Given the description of an element on the screen output the (x, y) to click on. 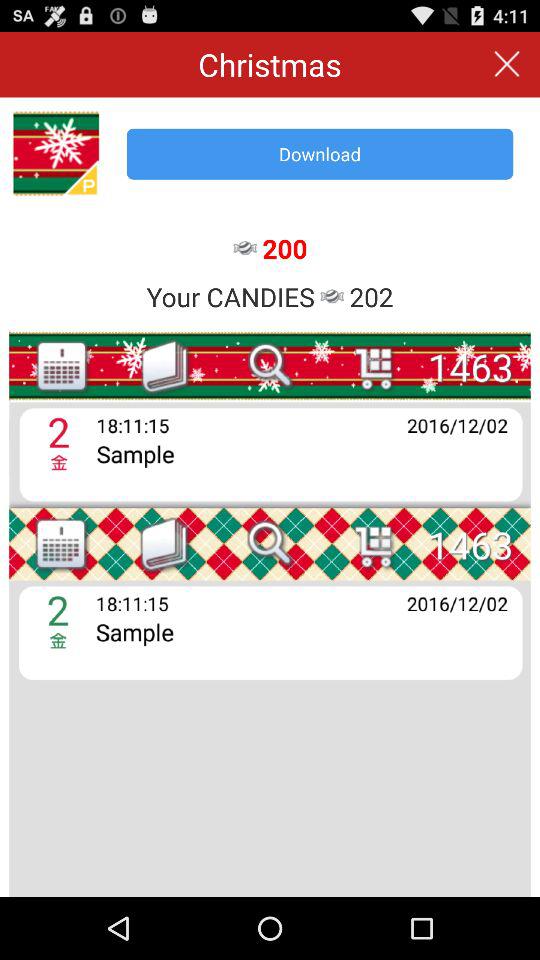
tap app above 200 item (319, 153)
